Given the description of an element on the screen output the (x, y) to click on. 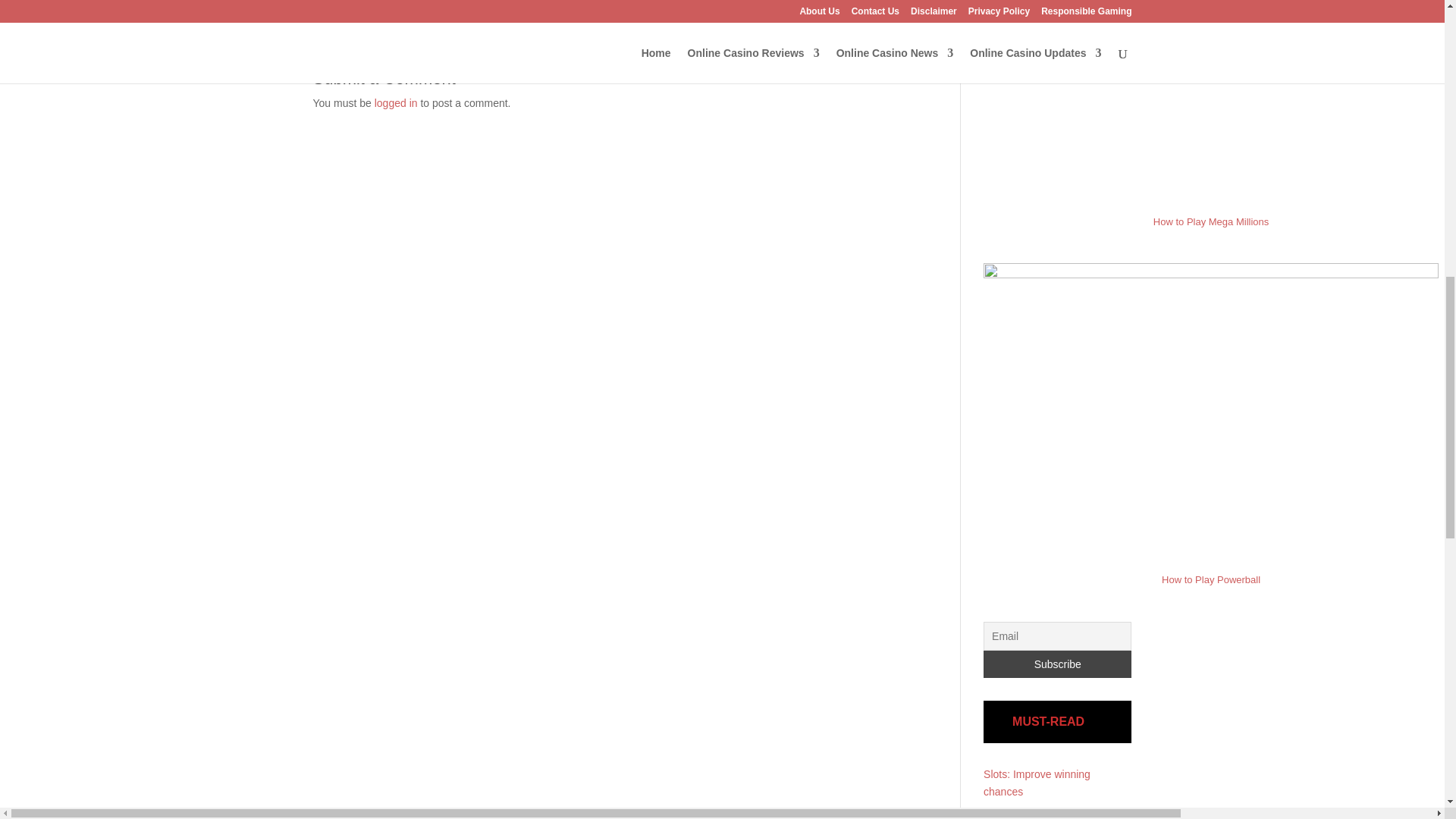
Subscribe (1057, 664)
How to Play Mega Millions (1210, 220)
logged in (395, 102)
How to Play Powerball (1210, 579)
Subscribe (1057, 664)
FYI: Mobile casino gaming (1046, 814)
Slots: Improve winning chances (1037, 783)
